Given the description of an element on the screen output the (x, y) to click on. 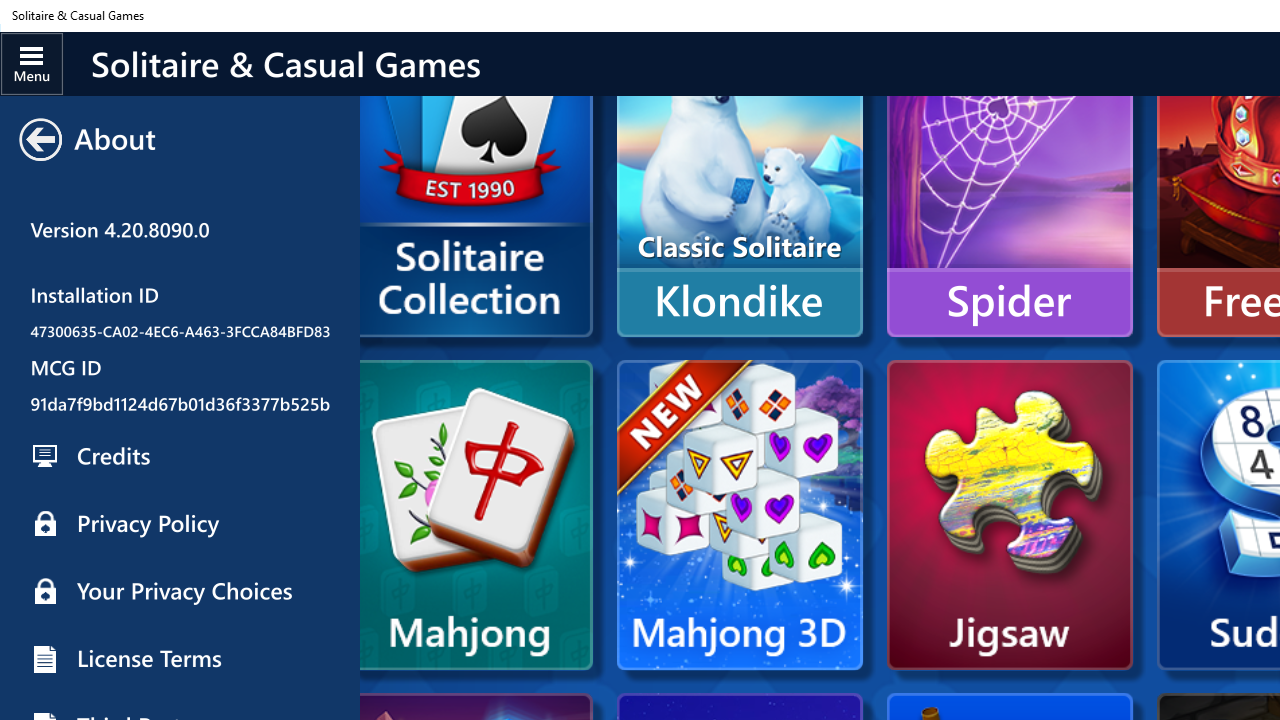
Class: Sgi::Gui::Button (40, 139)
Your Privacy Choices (179, 591)
Credits (179, 456)
About (179, 387)
Restore Solitaire Purchases (179, 445)
Spider (1009, 181)
Options (179, 124)
Microsoft Jigsaw (1009, 515)
Support (179, 319)
Classic Solitaire, Klondike (739, 181)
Menu (32, 63)
Solitaire Collection (179, 192)
Microsoft Mahjong (475, 515)
Microsoft Solitaire Collection (469, 211)
License Terms (179, 658)
